Given the description of an element on the screen output the (x, y) to click on. 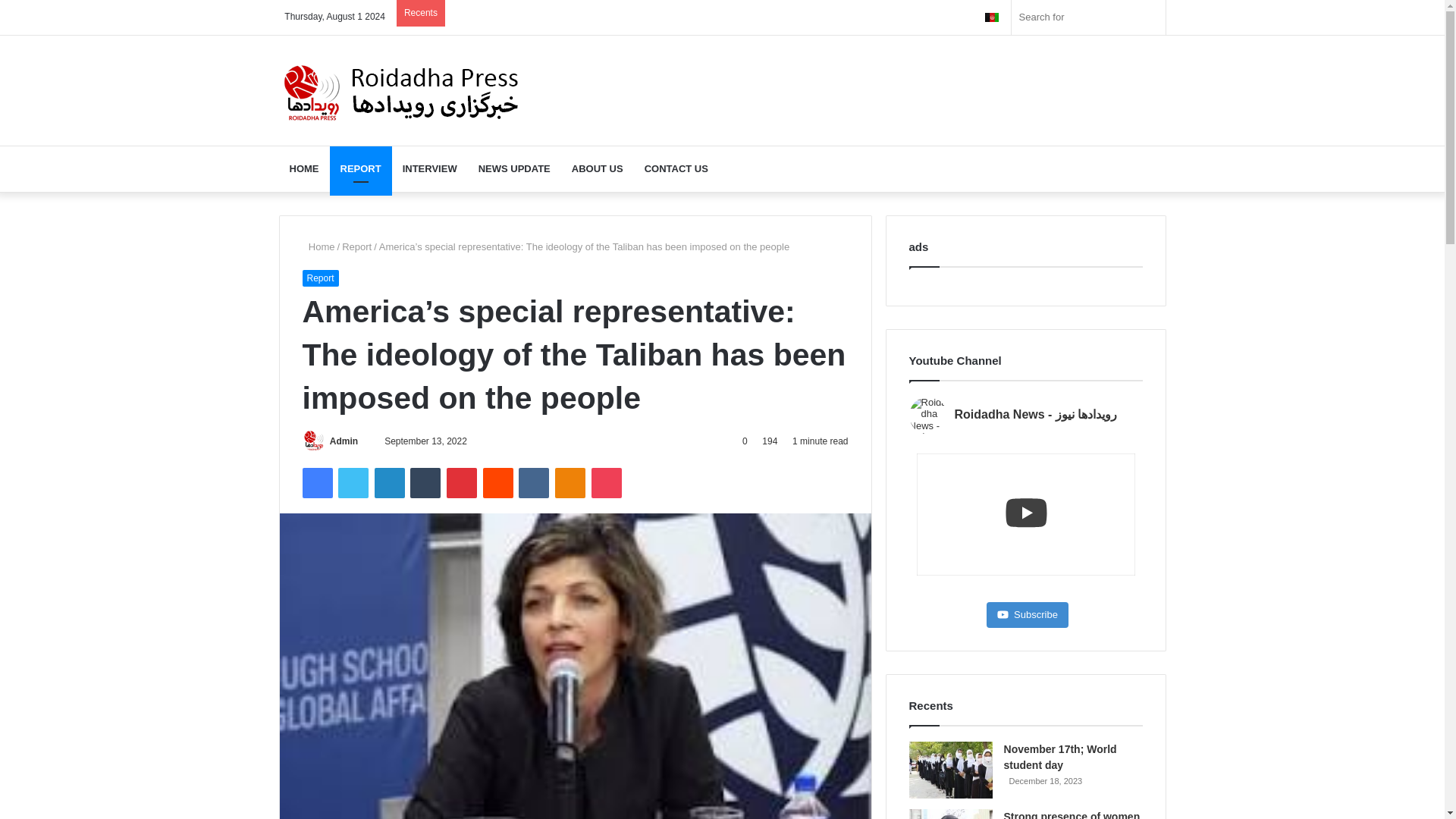
ABOUT US (596, 167)
Tumblr (425, 482)
Home (317, 246)
REPORT (360, 167)
Pocket (606, 482)
Facebook (316, 482)
Reddit (498, 482)
CONTACT US (676, 167)
Admin (344, 440)
Pinterest (461, 482)
VKontakte (533, 482)
LinkedIn (389, 482)
Facebook (316, 482)
Roidadhanews (402, 89)
Twitter (352, 482)
